Given the description of an element on the screen output the (x, y) to click on. 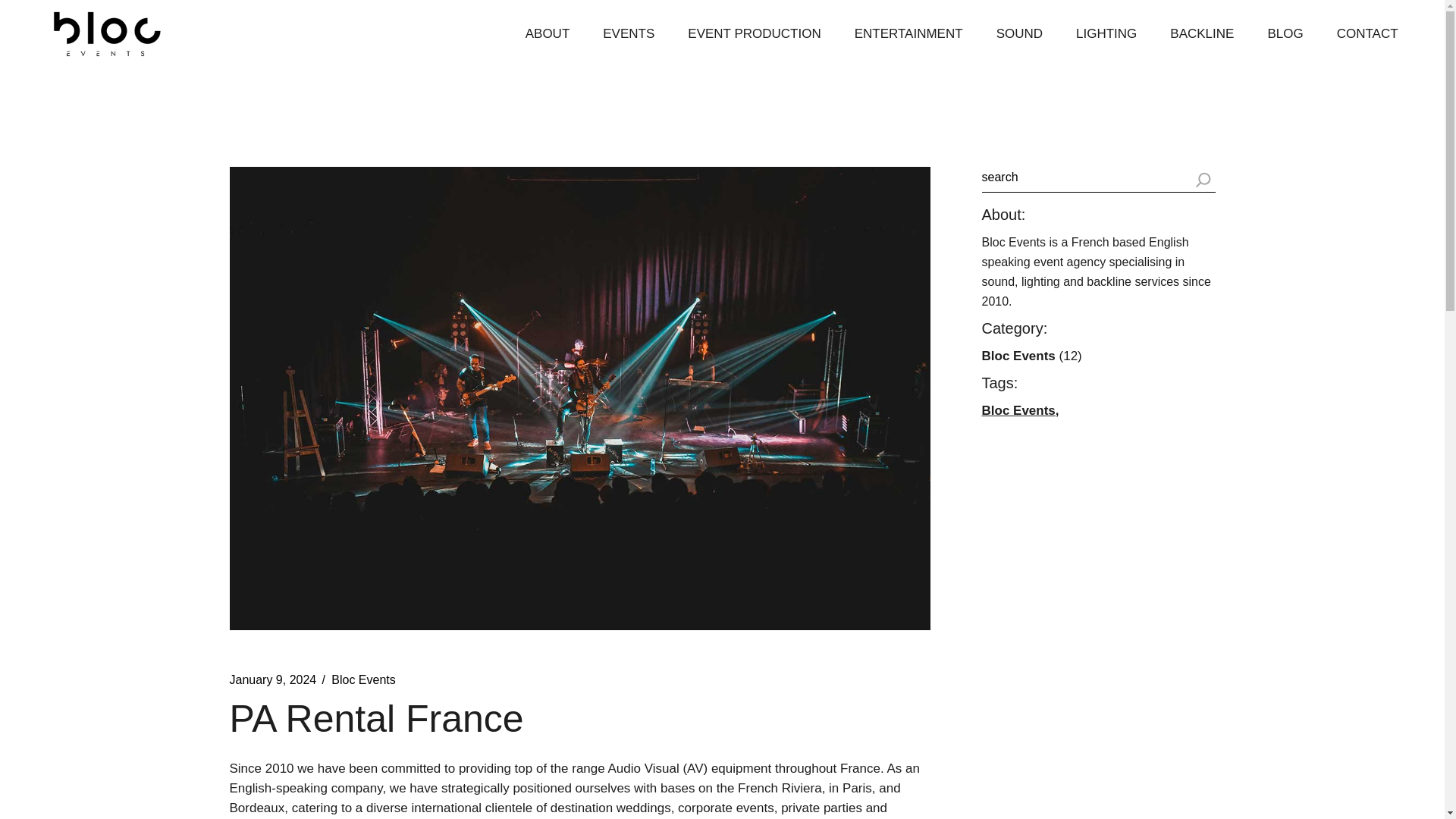
LIGHTING (1106, 33)
EVENTS (628, 33)
EVENT PRODUCTION (753, 33)
BACKLINE (1201, 33)
ENTERTAINMENT (909, 33)
SOUND (1018, 33)
CONTACT (1367, 33)
